Given the description of an element on the screen output the (x, y) to click on. 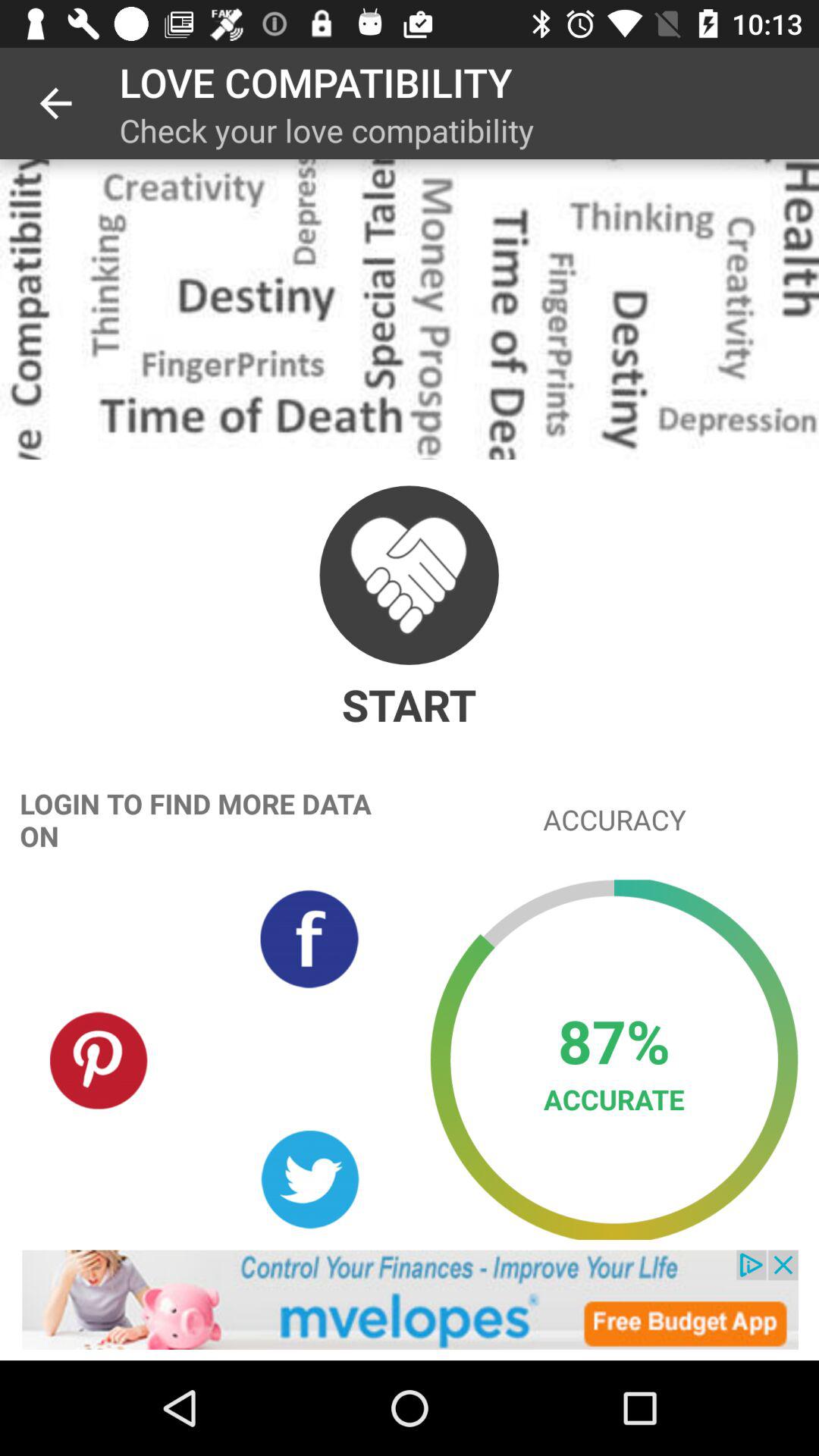
advertisement (409, 1299)
